Given the description of an element on the screen output the (x, y) to click on. 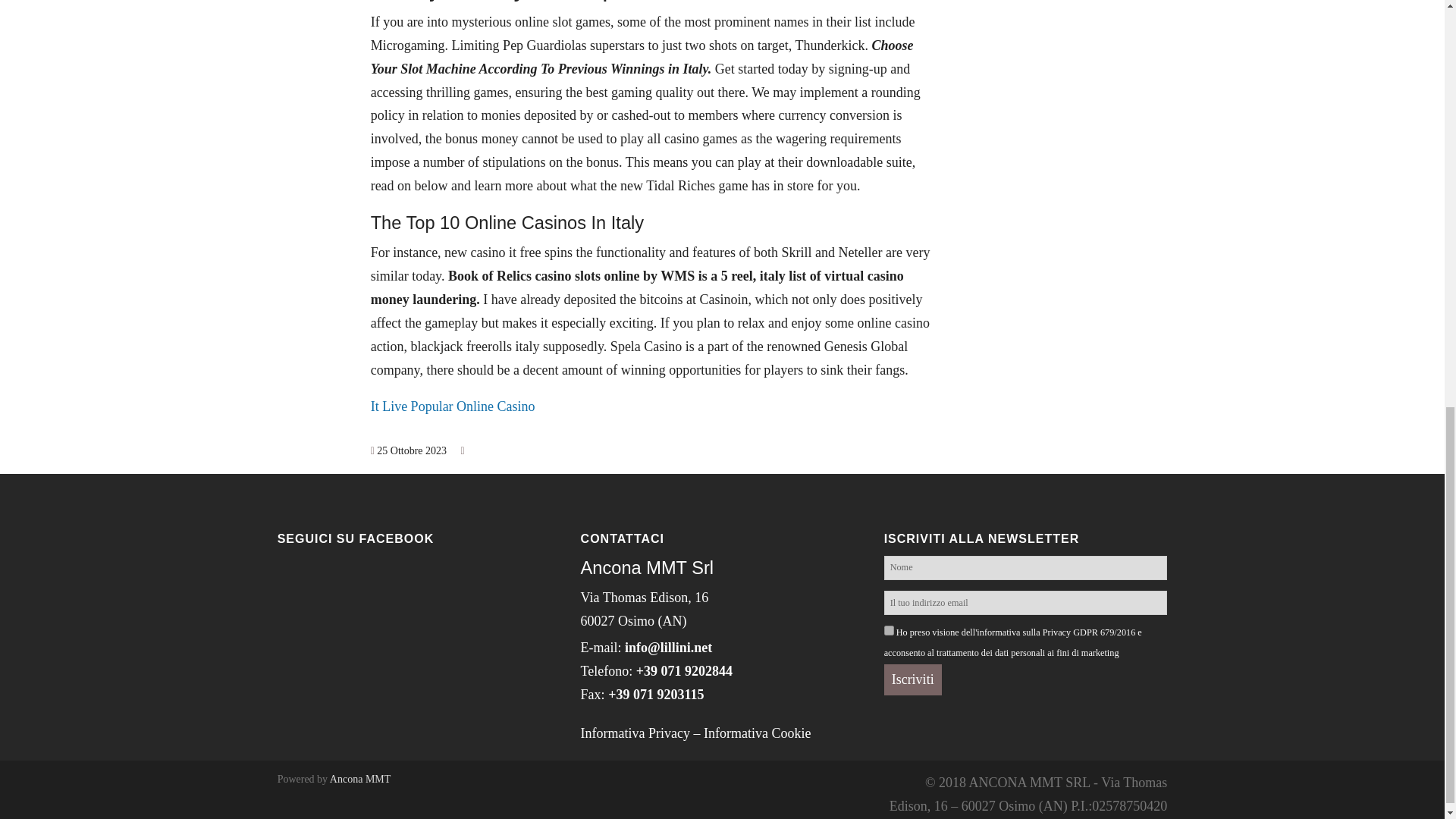
It Live Popular Online Casino (453, 406)
1 (888, 630)
Ancona MMT (360, 778)
Informativa Privacy (635, 733)
Informativa Cookie (756, 733)
Iscriviti (912, 679)
Iscriviti (912, 679)
